Given the description of an element on the screen output the (x, y) to click on. 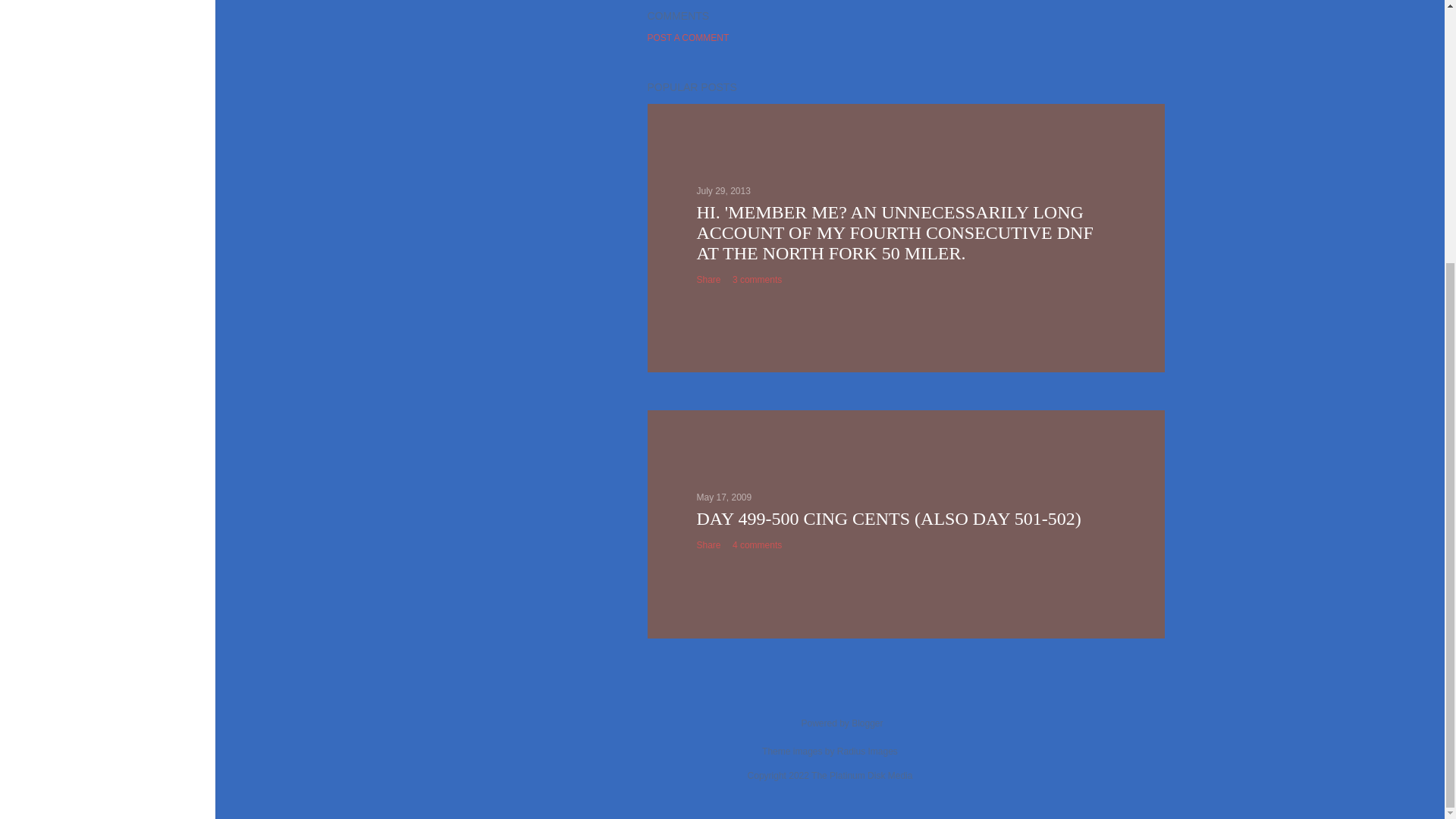
3 comments (756, 279)
Radius Images (867, 751)
POST A COMMENT (688, 37)
Share (707, 279)
Share (707, 544)
May 17, 2009 (723, 497)
4 comments (756, 544)
July 29, 2013 (722, 190)
permanent link (722, 190)
